Given the description of an element on the screen output the (x, y) to click on. 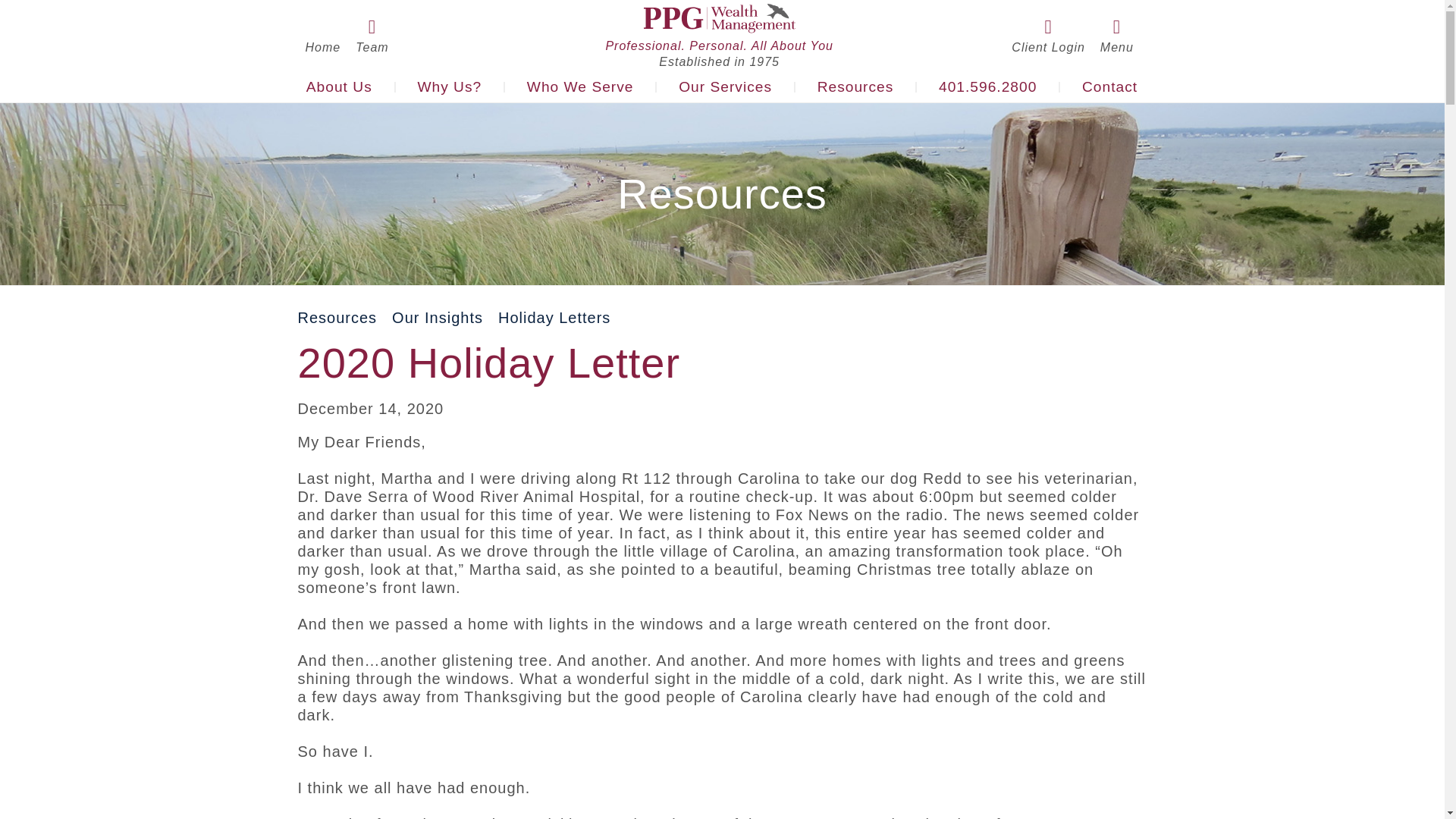
Contact (1109, 87)
Home (322, 47)
Who We Serve (580, 87)
Team (371, 47)
Menu (1117, 47)
Resources (854, 87)
Our Services (725, 87)
Resources (337, 317)
site-logo (718, 18)
About Us (338, 87)
Why Us? (449, 87)
Client Login (1047, 47)
401.596.2800 (987, 87)
